Given the description of an element on the screen output the (x, y) to click on. 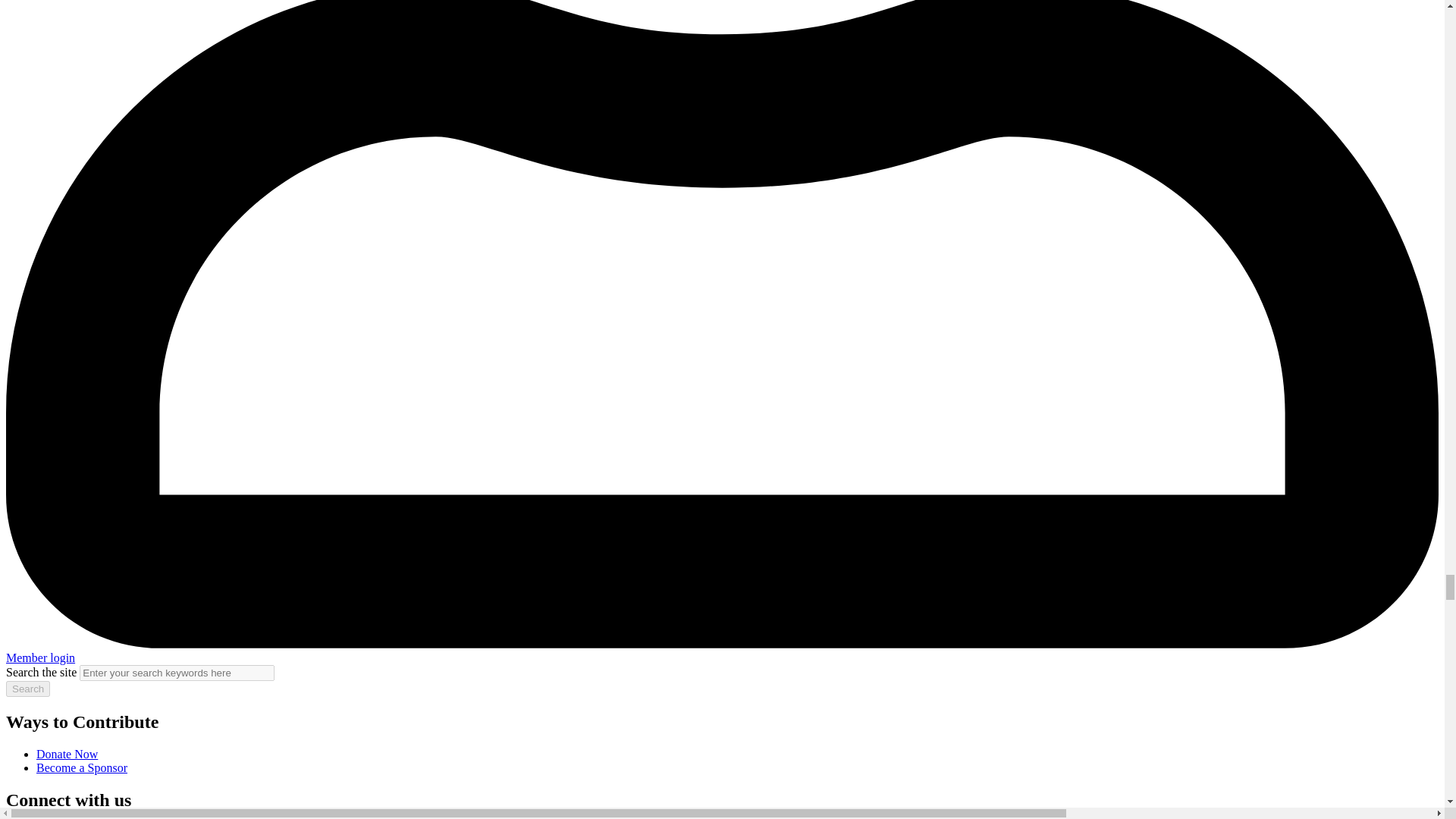
Search (27, 688)
